Given the description of an element on the screen output the (x, y) to click on. 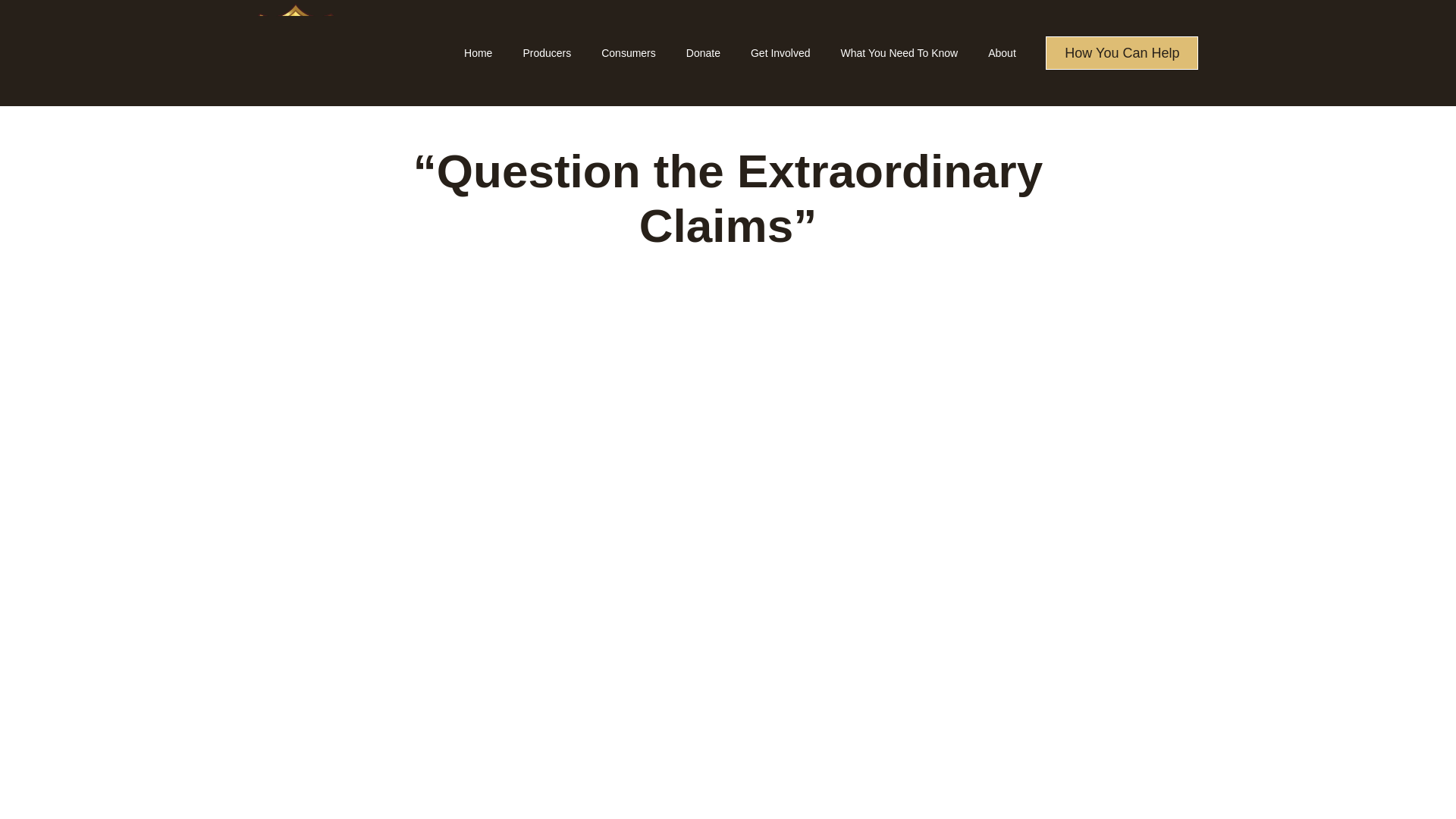
Consumers (628, 53)
Donate (703, 53)
What You Need To Know (899, 53)
Producers (546, 53)
Home (477, 53)
Get Involved (780, 53)
